Given the description of an element on the screen output the (x, y) to click on. 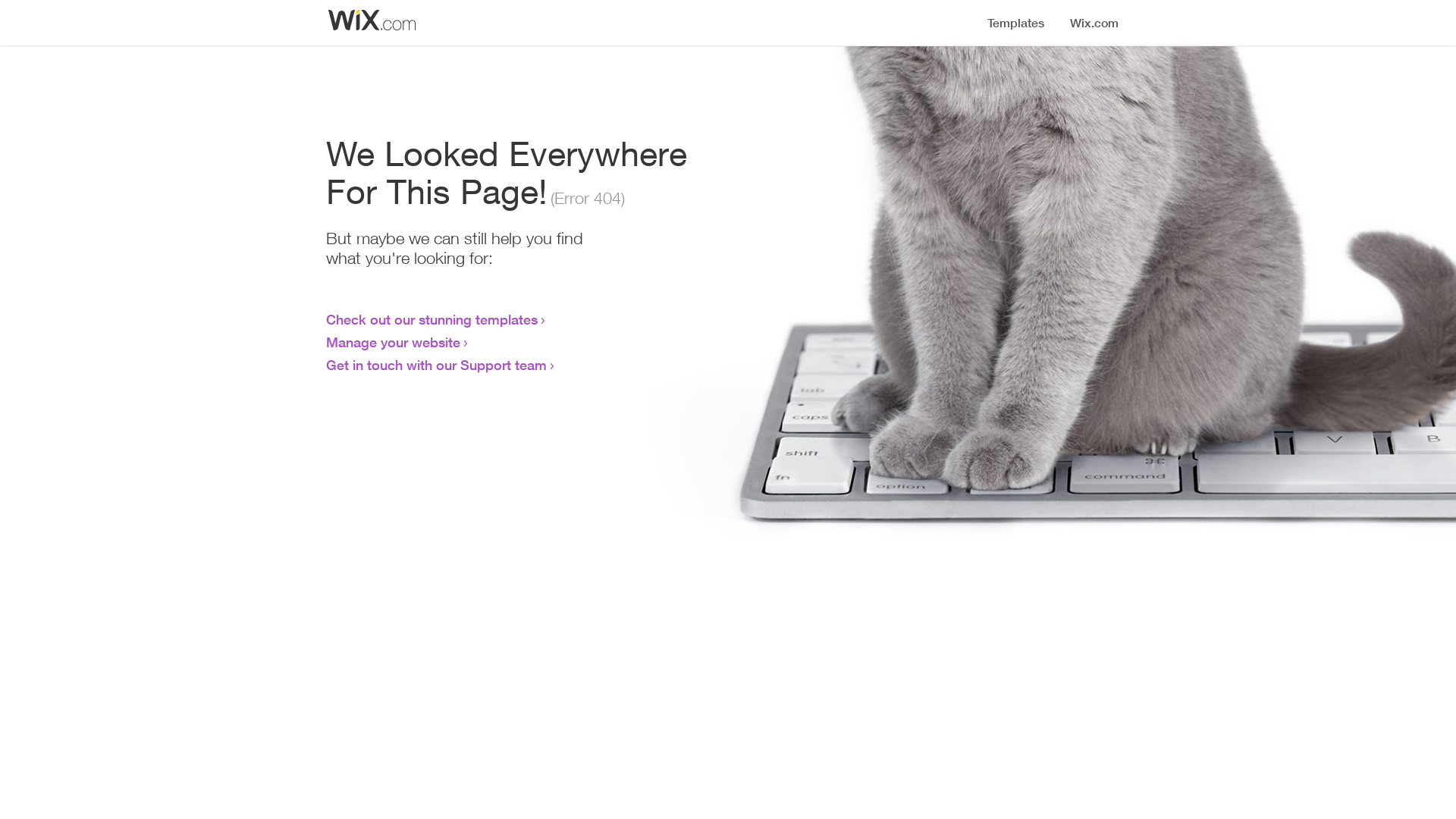
Check out our stunning templates Element type: text (431, 318)
Manage your website Element type: text (393, 341)
Get in touch with our Support team Element type: text (436, 364)
